Given the description of an element on the screen output the (x, y) to click on. 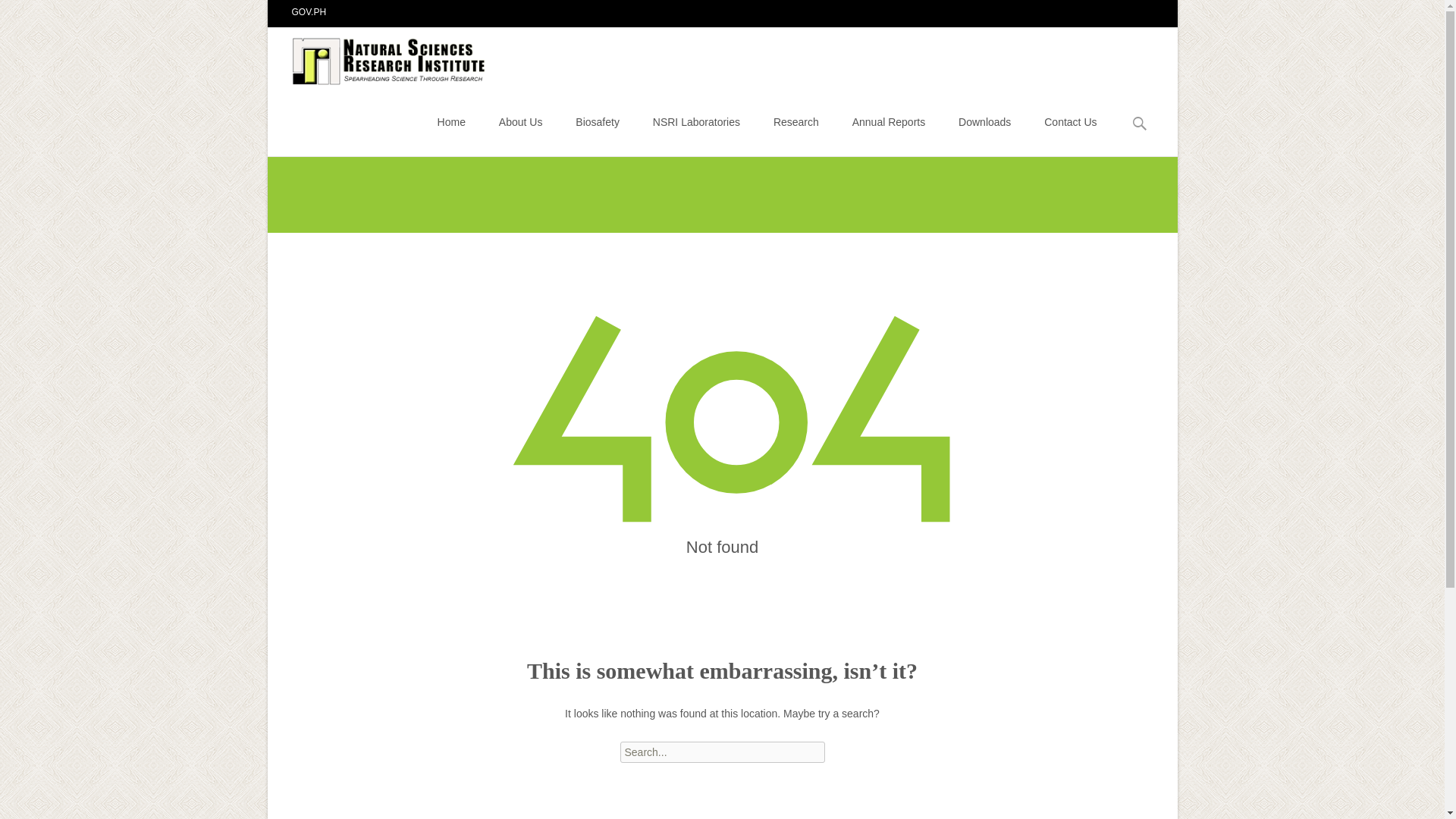
Search (34, 14)
Natural Sciences Research Institute (378, 57)
GOV.PH (308, 11)
Search (18, 14)
Search for: (1139, 123)
Search for: (722, 752)
NSRI Laboratories (695, 121)
Annual Reports (888, 121)
